Given the description of an element on the screen output the (x, y) to click on. 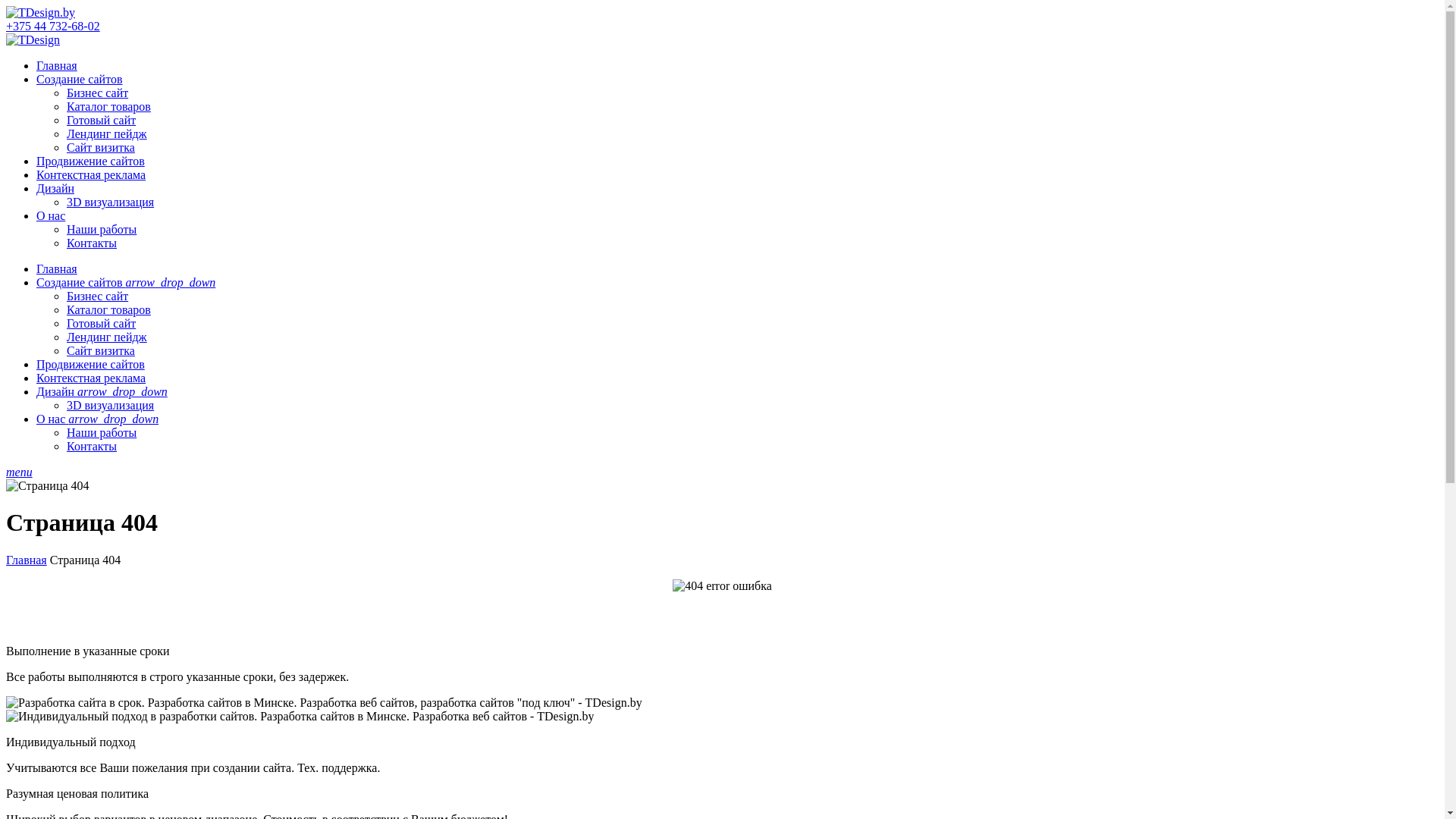
+375 44 732-68-02 Element type: text (53, 25)
menu Element type: text (19, 471)
